Given the description of an element on the screen output the (x, y) to click on. 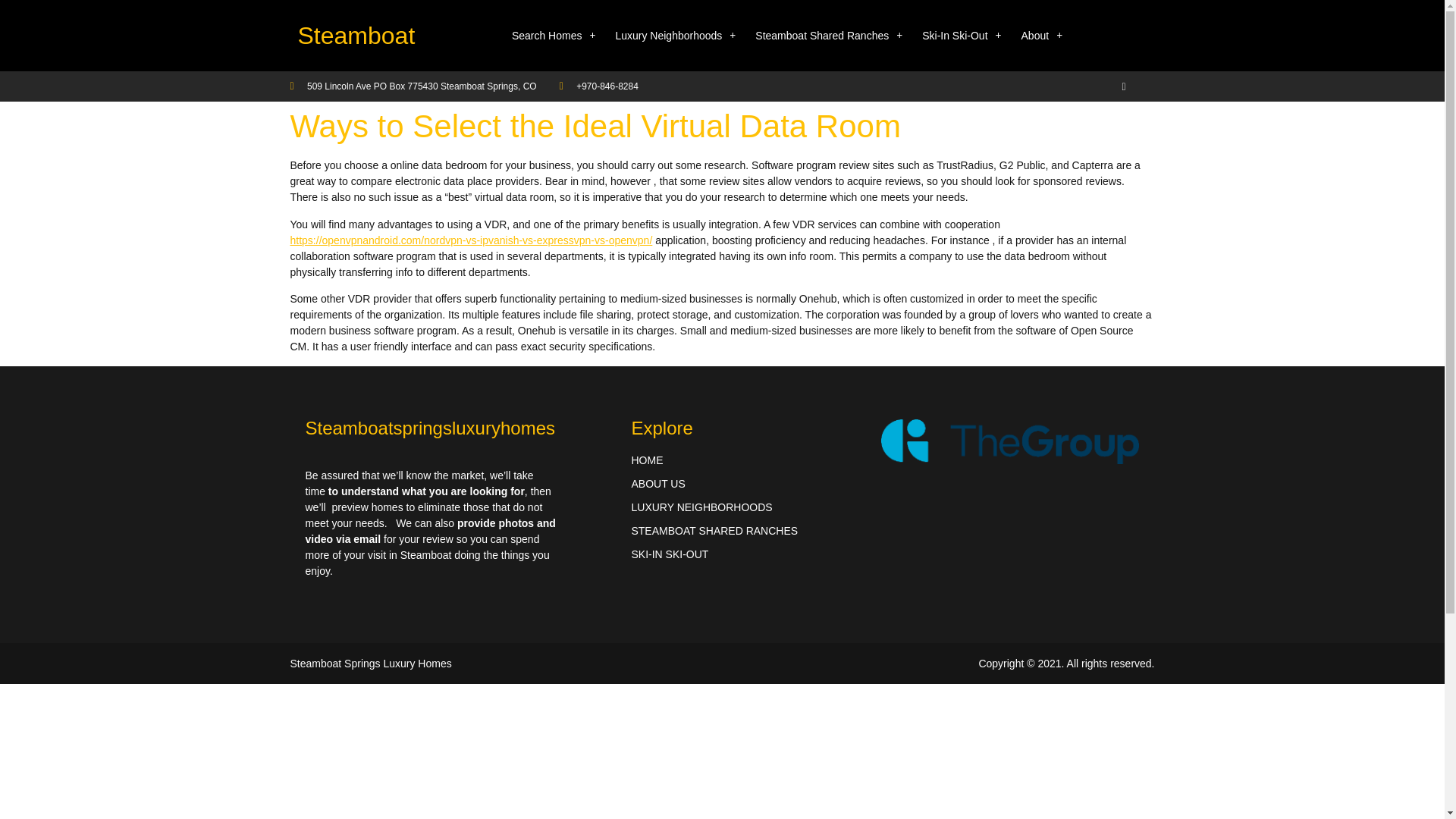
Steamboat (355, 35)
Search Homes (553, 35)
Steamboat Shared Ranches (828, 35)
Luxury Neighborhoods (675, 35)
